Given the description of an element on the screen output the (x, y) to click on. 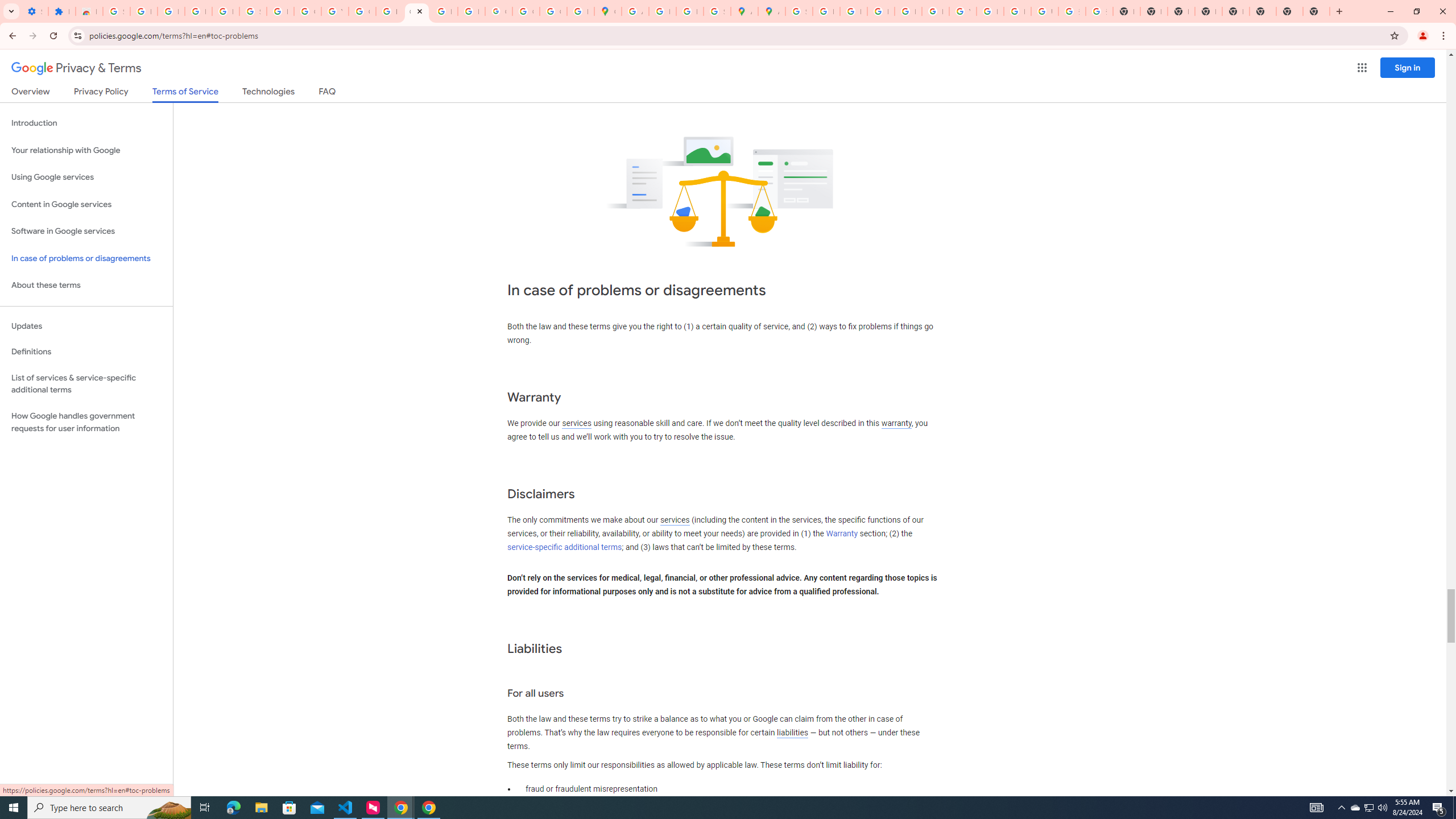
In case of problems or disagreements (86, 258)
Software in Google services (86, 230)
Reviews: Helix Fruit Jump Arcade Game (88, 11)
Privacy Help Center - Policies Help (880, 11)
